Given the description of an element on the screen output the (x, y) to click on. 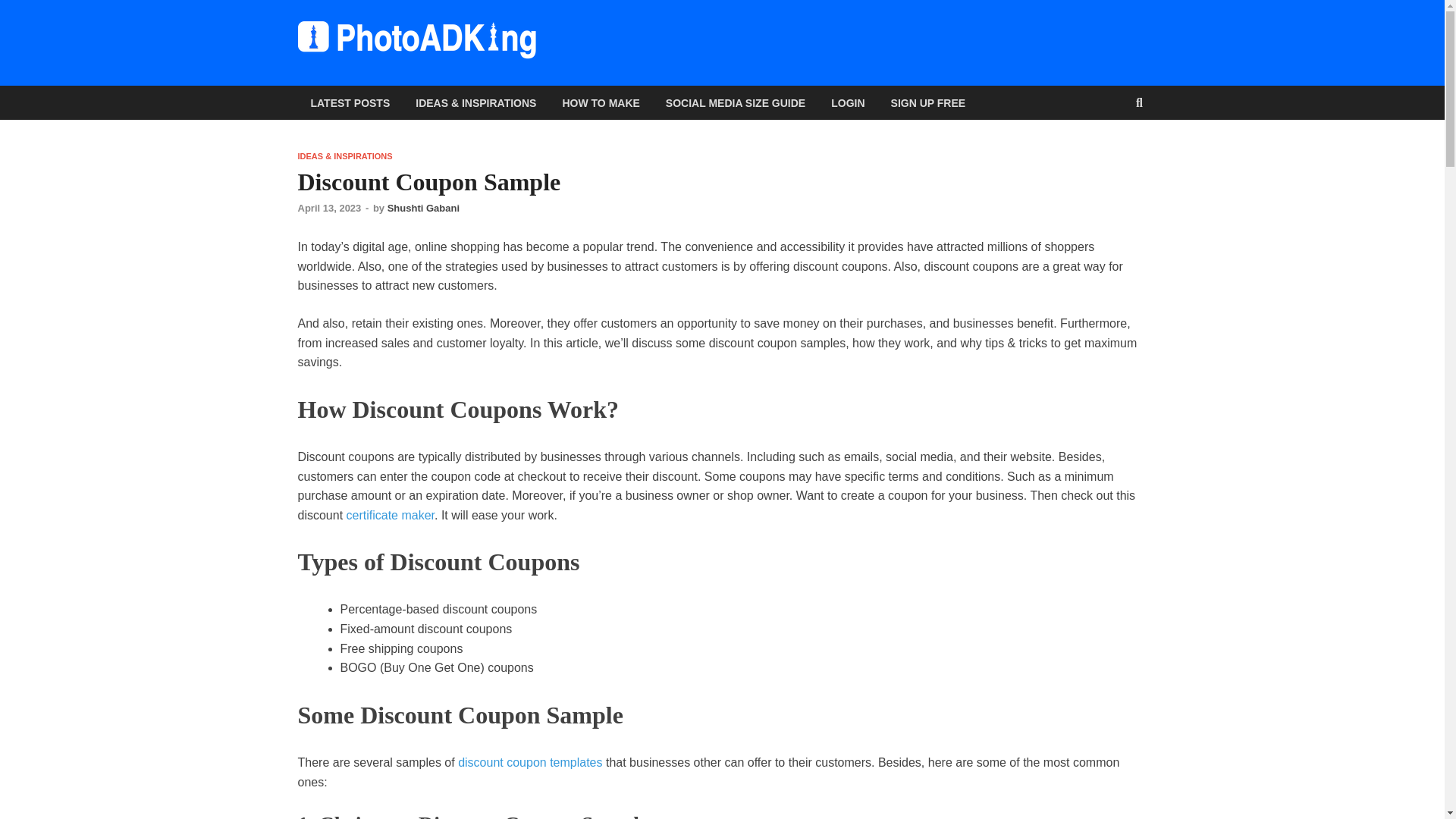
SIGN UP FREE (927, 102)
Shushti Gabani (423, 207)
PhotoADKing (636, 51)
discount coupon templates (530, 762)
SOCIAL MEDIA SIZE GUIDE (735, 102)
HOW TO MAKE (600, 102)
certificate maker (389, 514)
April 13, 2023 (329, 207)
LOGIN (847, 102)
LATEST POSTS (350, 102)
